Given the description of an element on the screen output the (x, y) to click on. 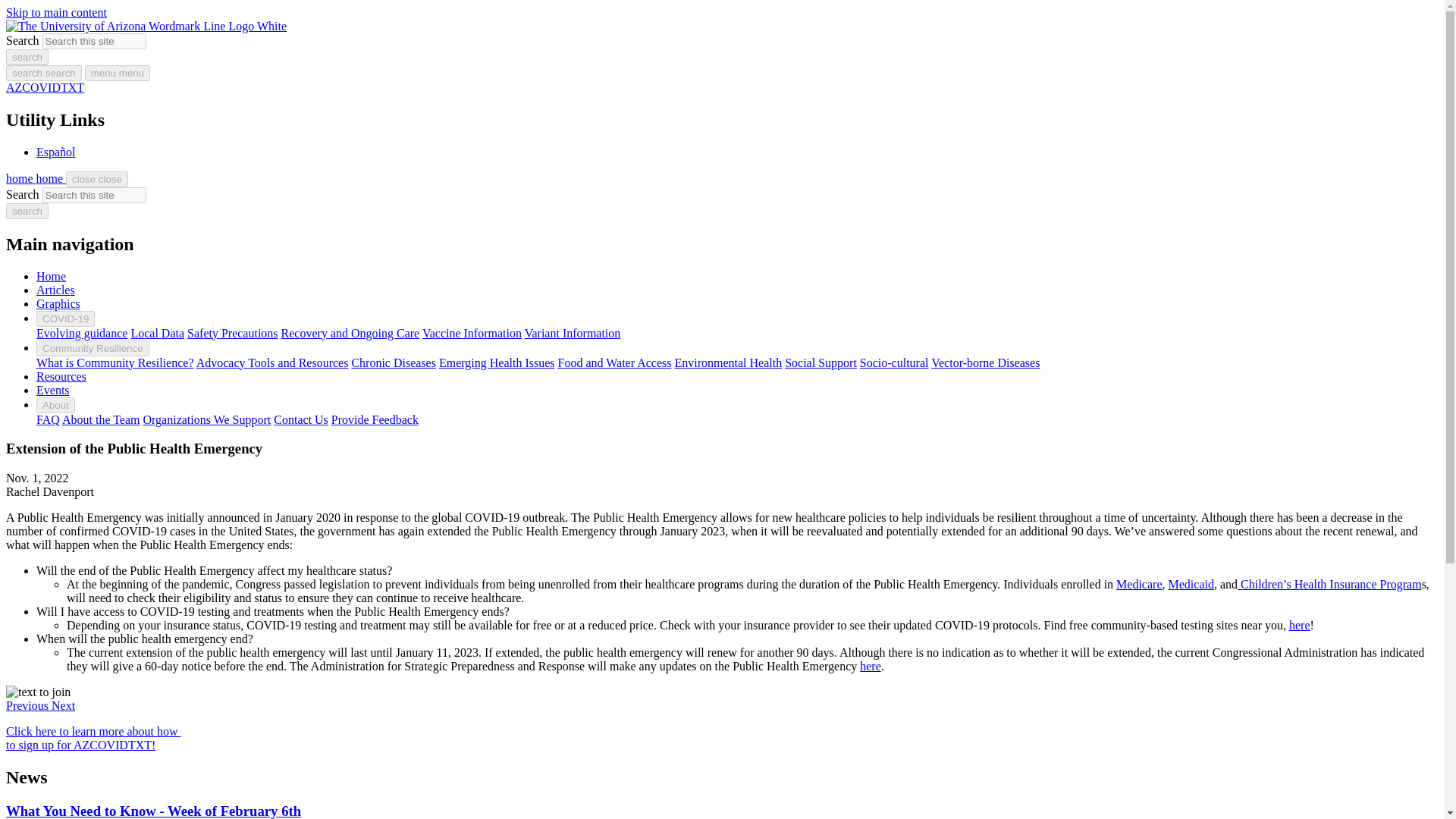
Provide Feedback (375, 419)
Events (52, 390)
Local Data (157, 332)
About (55, 405)
COVID-19 (65, 318)
Food and Water Access (614, 362)
menu menu (116, 73)
What is Community Resilience? (114, 362)
FAQ (47, 419)
search (26, 57)
About the Team (100, 419)
Safety Precautions (232, 332)
Advocacy Tools and Resources (272, 362)
Graphics (58, 303)
home home (35, 178)
